Given the description of an element on the screen output the (x, y) to click on. 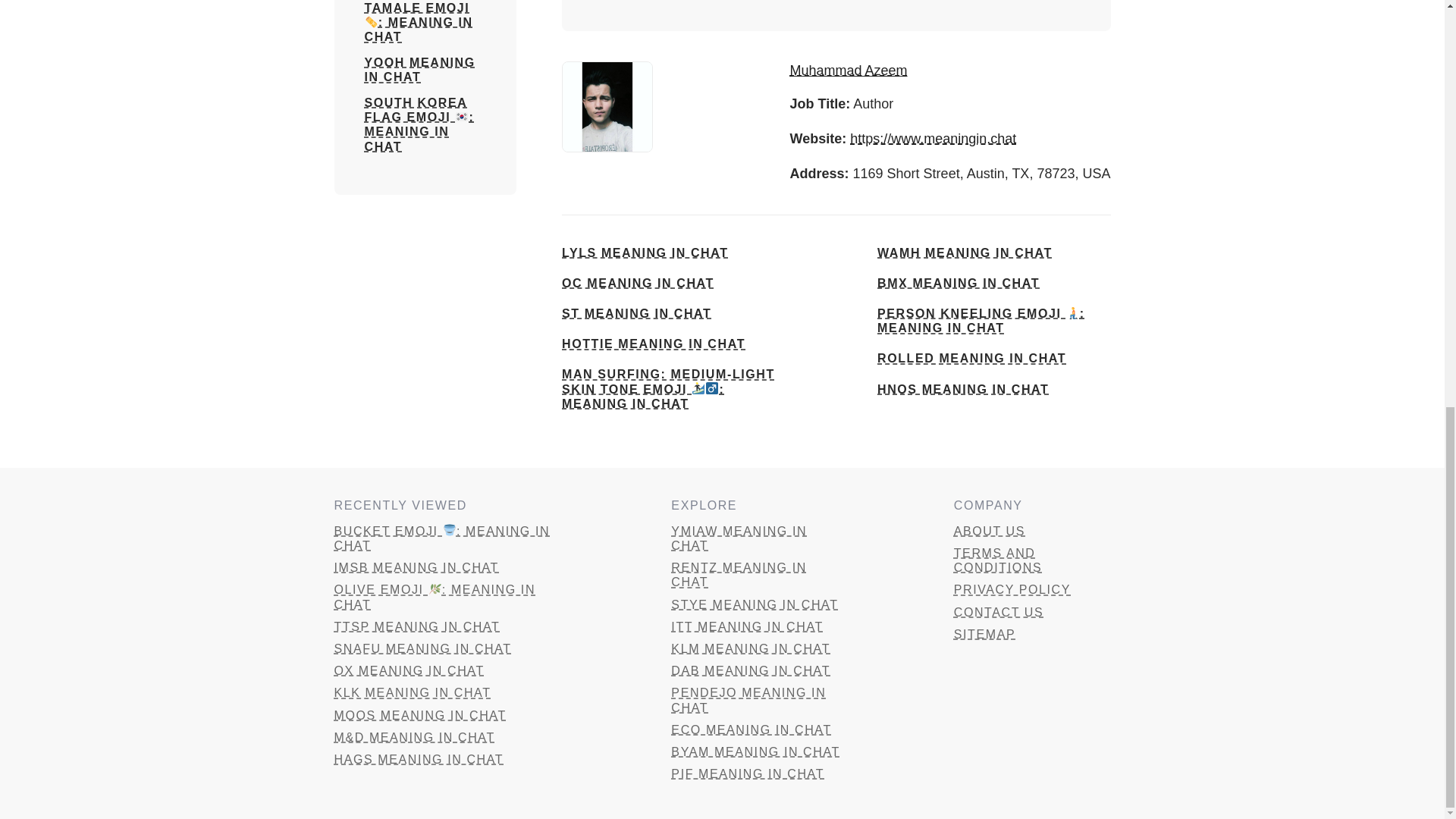
LYLS MEANING IN CHAT (645, 252)
TTSP MEANING IN CHAT (448, 626)
YOOH MEANING IN CHAT (424, 69)
ROLLED MEANING IN CHAT (971, 358)
PERSON KNEELING EMOJI : MEANING IN CHAT (993, 320)
SNAFU MEANING IN CHAT (448, 648)
IMSB MEANING IN CHAT (448, 567)
Muhammad Azeem (848, 70)
ST MEANING IN CHAT (636, 313)
OLIVE EMOJI : MEANING IN CHAT (448, 596)
OC MEANING IN CHAT (638, 283)
YMIAW MEANING IN CHAT (759, 538)
OX MEANING IN CHAT (448, 670)
TAMALE EMOJI : MEANING IN CHAT (424, 22)
SOUTH KOREA FLAG EMOJI : MEANING IN CHAT (424, 124)
